Given the description of an element on the screen output the (x, y) to click on. 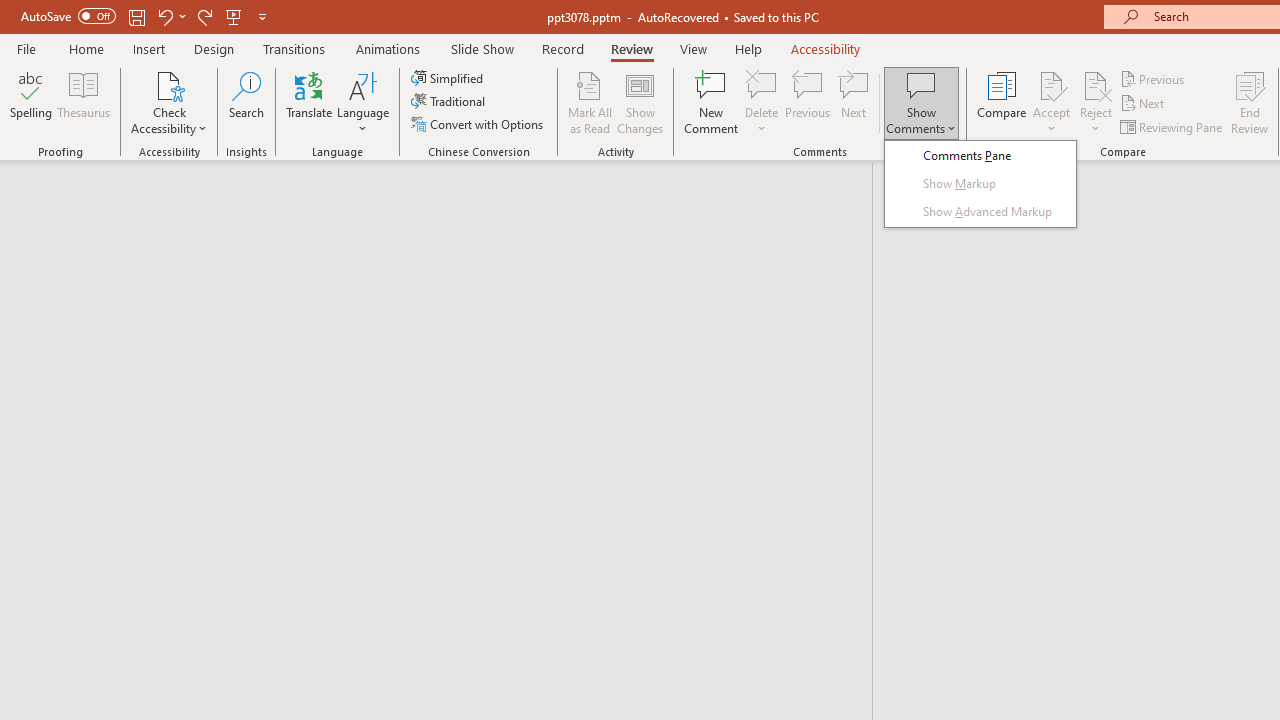
Compare (1002, 102)
Previous (1153, 78)
Mark All as Read (589, 102)
End Review (1249, 102)
Reject (1096, 102)
Language (363, 102)
